Given the description of an element on the screen output the (x, y) to click on. 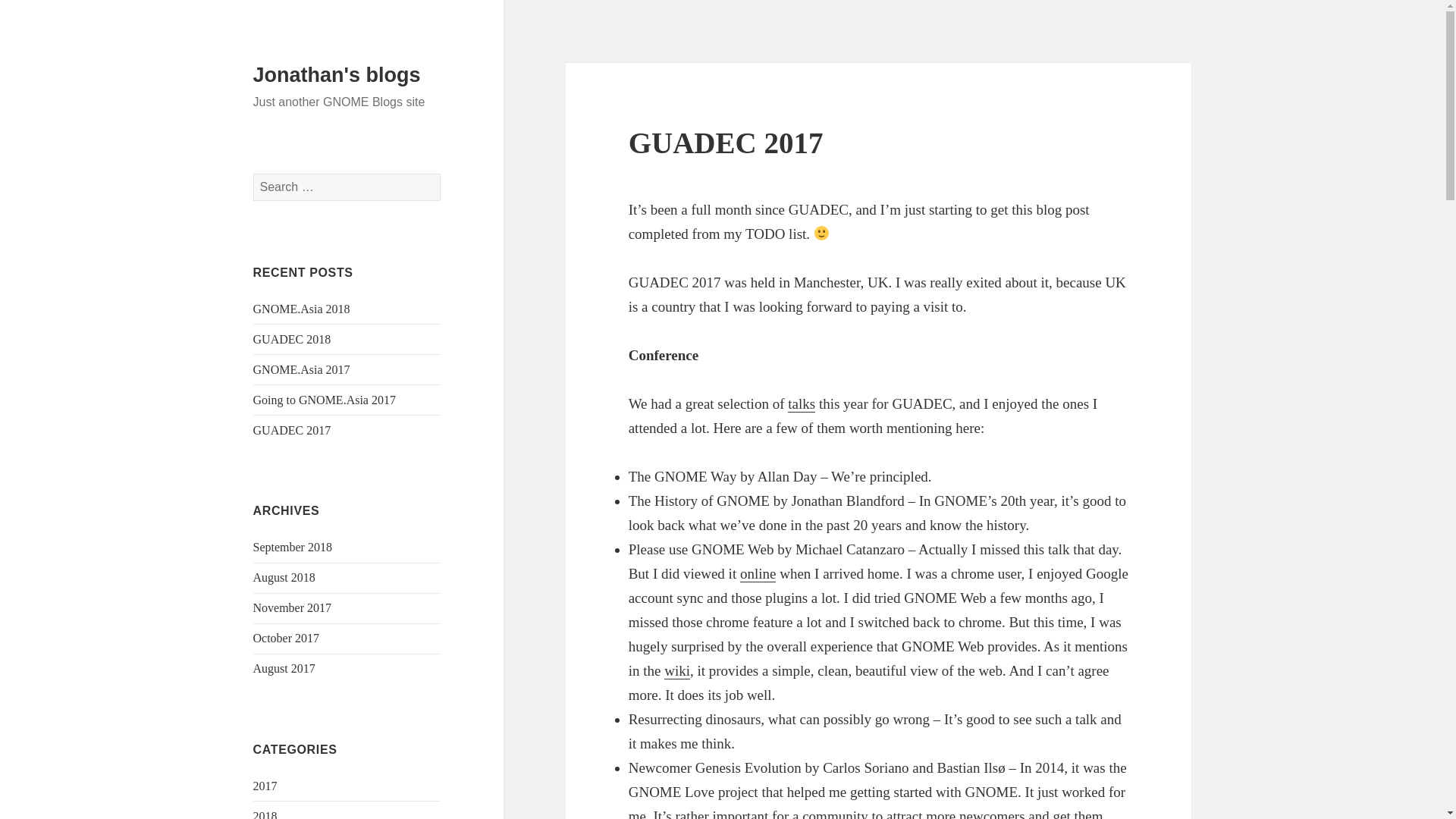
2017 (265, 785)
wiki (676, 670)
GNOME.Asia 2017 (301, 369)
GUADEC 2017 (292, 430)
talks (801, 403)
GNOME.Asia 2018 (301, 308)
October 2017 (286, 637)
September 2018 (292, 546)
